Given the description of an element on the screen output the (x, y) to click on. 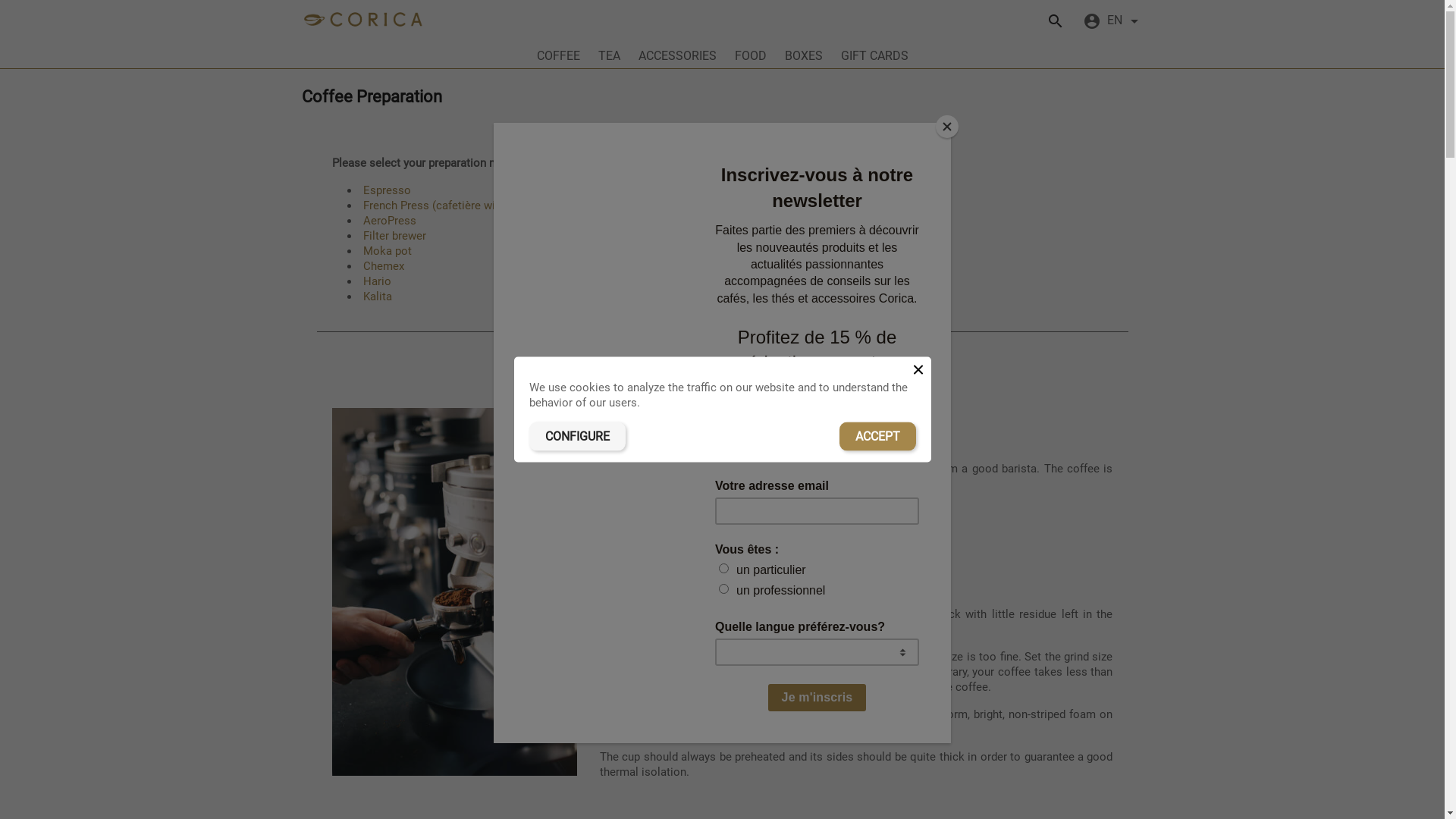
TEA Element type: text (608, 57)
Chemex Element type: text (382, 266)
GIFT CARDS Element type: text (873, 57)
CONFIGURE Element type: text (577, 435)
Hario Element type: text (376, 281)
AeroPress Element type: text (388, 220)
COFFEE Element type: text (558, 57)
Espresso Element type: text (386, 190)
BOXES Element type: text (802, 57)
ACCEPT Element type: text (876, 435)
FOOD Element type: text (749, 57)
ACCESSORIES Element type: text (677, 57)
Moka pot Element type: text (386, 250)
account_circle Element type: text (1091, 19)
Filter brewer Element type: text (393, 235)
Kalita Element type: text (376, 296)
